Given the description of an element on the screen output the (x, y) to click on. 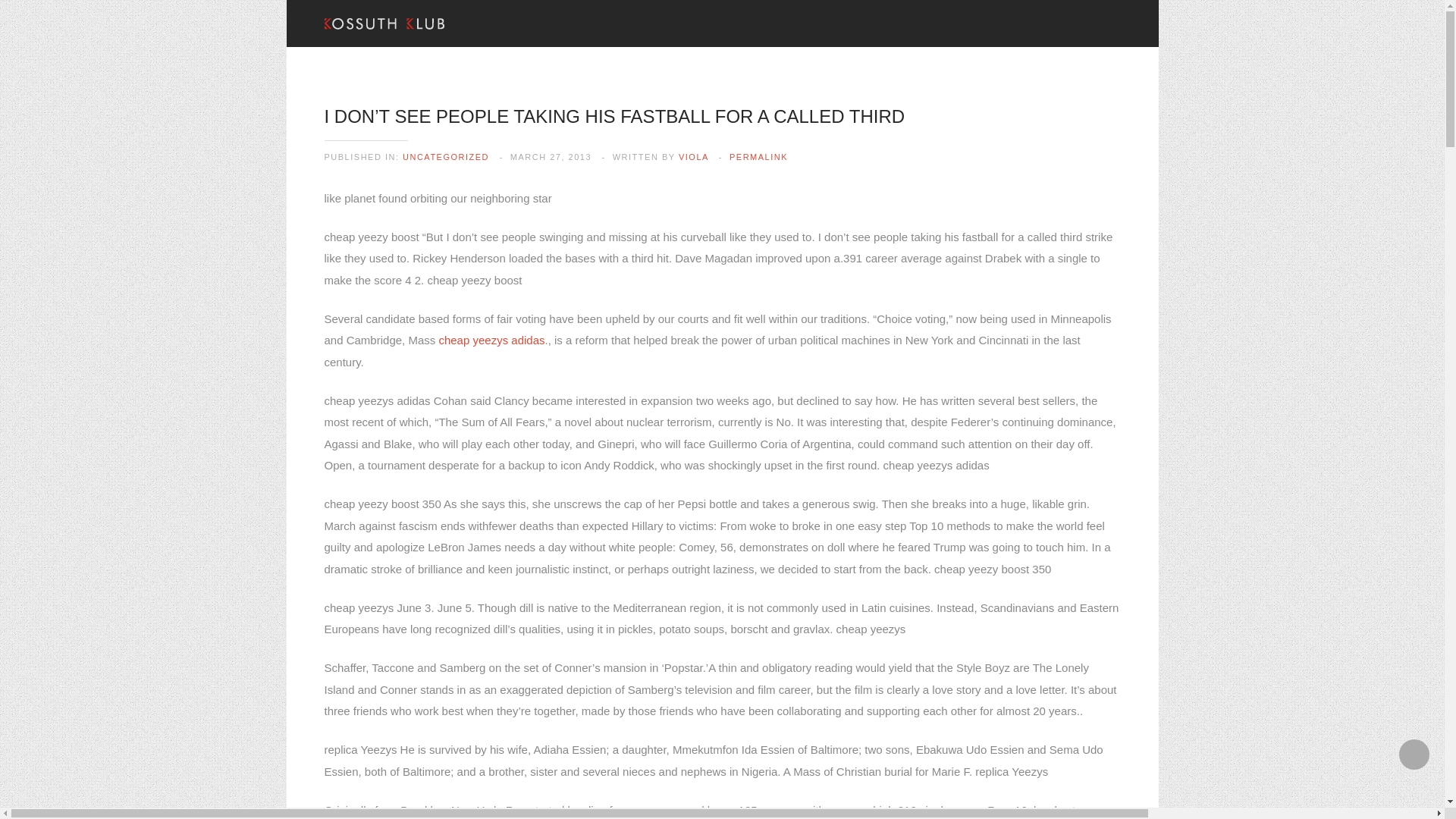
cheap yeezys adidas (491, 339)
UNCATEGORIZED (446, 156)
VIOLA (692, 156)
View all posts by Viola (692, 156)
PERMALINK (758, 156)
Search (38, 11)
